Given the description of an element on the screen output the (x, y) to click on. 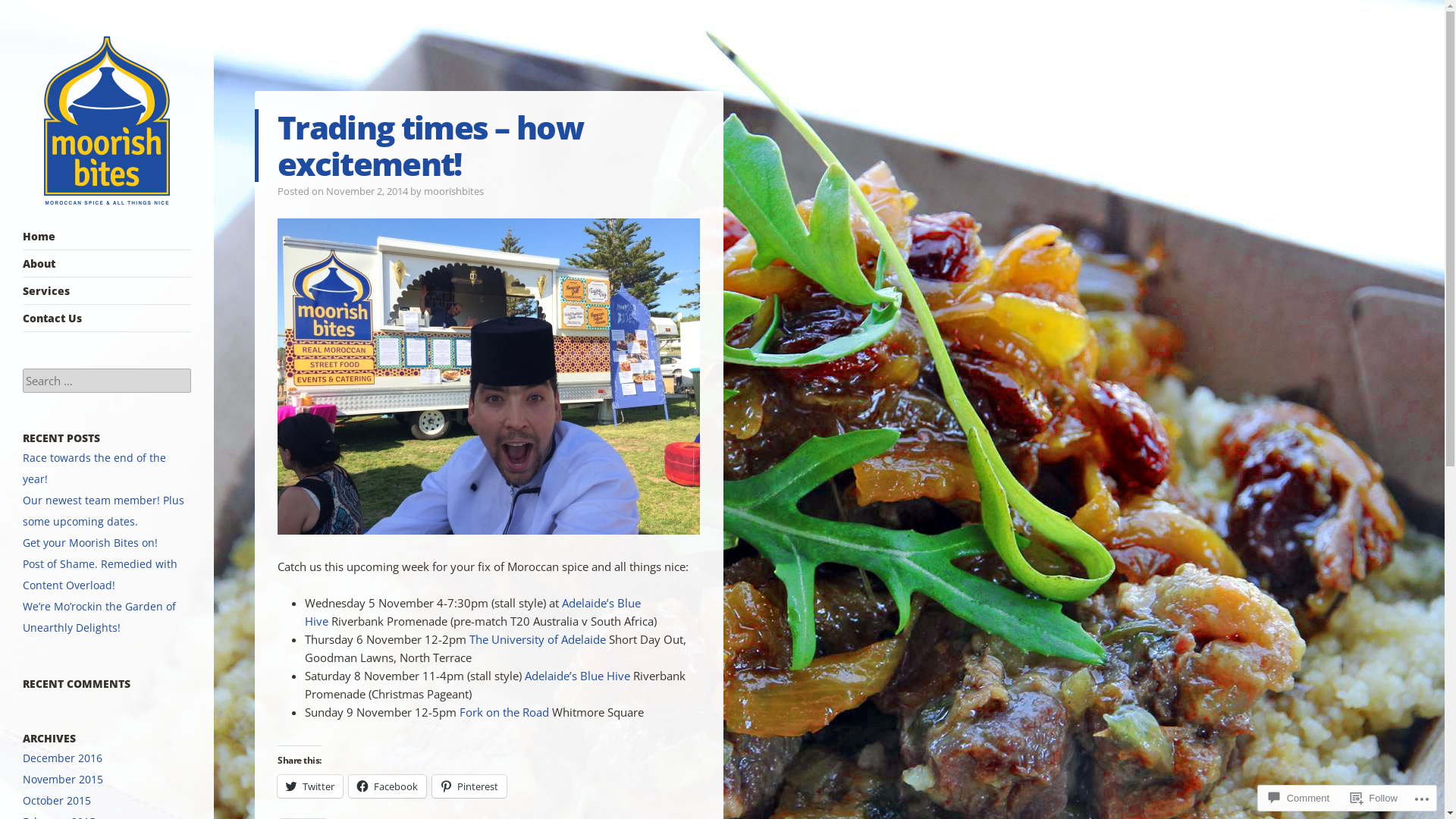
The University of Adelaide Element type: text (537, 638)
Fork on the Road Element type: text (504, 711)
Moorish Bites Element type: text (80, 231)
About Element type: text (106, 263)
Home Element type: text (106, 235)
November 2, 2014 Element type: text (366, 190)
October 2015 Element type: text (56, 800)
moorishbites Element type: text (453, 190)
Contact Us Element type: text (106, 317)
Skip to content Element type: text (64, 235)
Services Element type: text (106, 290)
Our newest team member! Plus some upcoming dates. Element type: text (103, 510)
Comment Element type: text (1298, 797)
December 2016 Element type: text (62, 757)
Facebook Element type: text (387, 786)
Pinterest Element type: text (469, 786)
Get your Moorish Bites on! Element type: text (89, 542)
Twitter Element type: text (309, 786)
Search Element type: text (31, 11)
November 2015 Element type: text (62, 778)
Follow Element type: text (1373, 797)
Post of Shame. Remedied with Content Overload! Element type: text (99, 574)
Race towards the end of the year! Element type: text (94, 468)
